Given the description of an element on the screen output the (x, y) to click on. 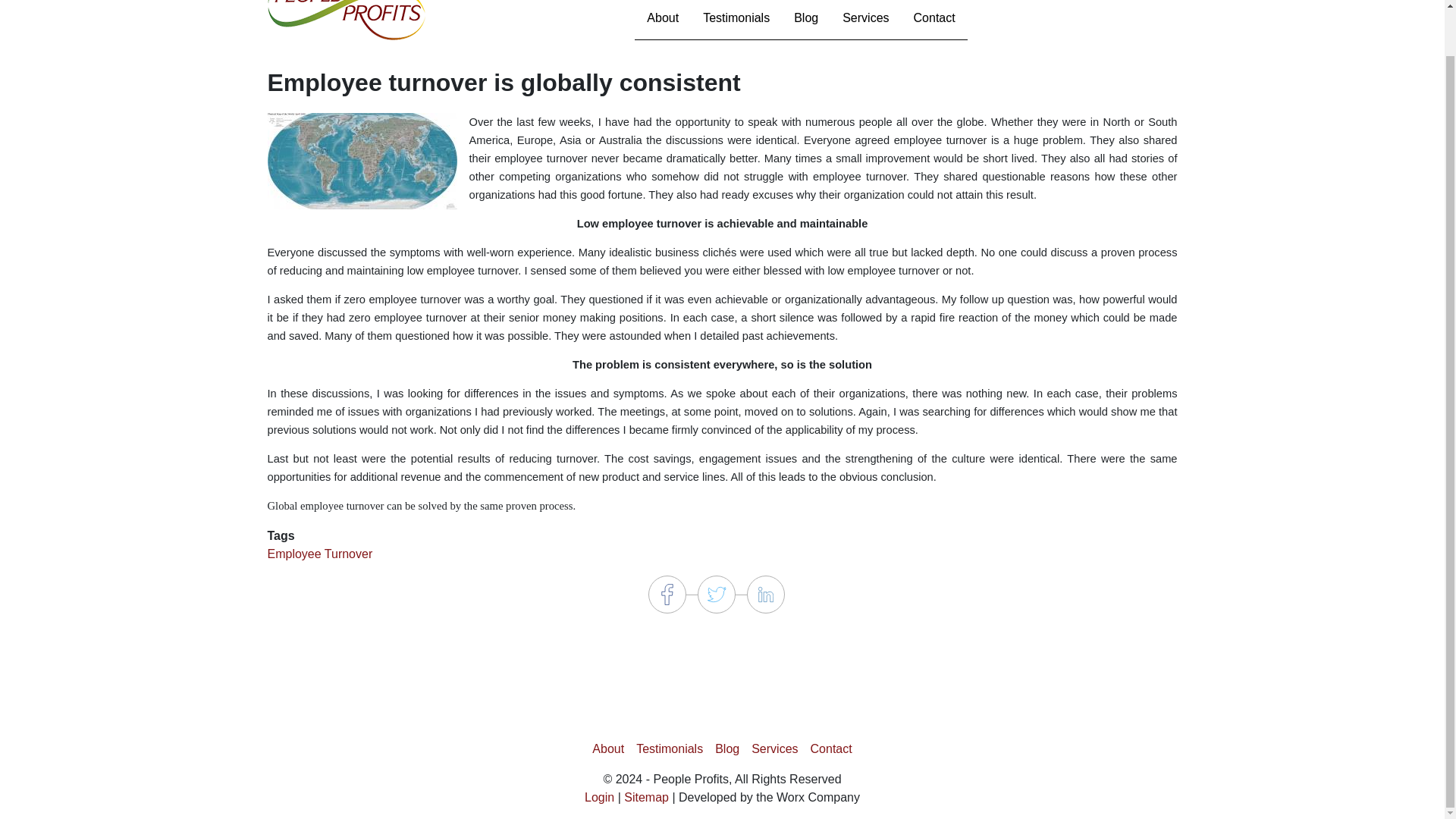
Blog (726, 748)
Employee Turnover (319, 553)
Testimonials (669, 748)
About (608, 748)
Testimonials (735, 20)
Sitemap (646, 797)
Services (865, 20)
Blog (805, 20)
Contact (830, 748)
About (662, 20)
Login (599, 797)
Employee turnover is globally consistent (361, 160)
Contact (934, 20)
Services (774, 748)
